Given the description of an element on the screen output the (x, y) to click on. 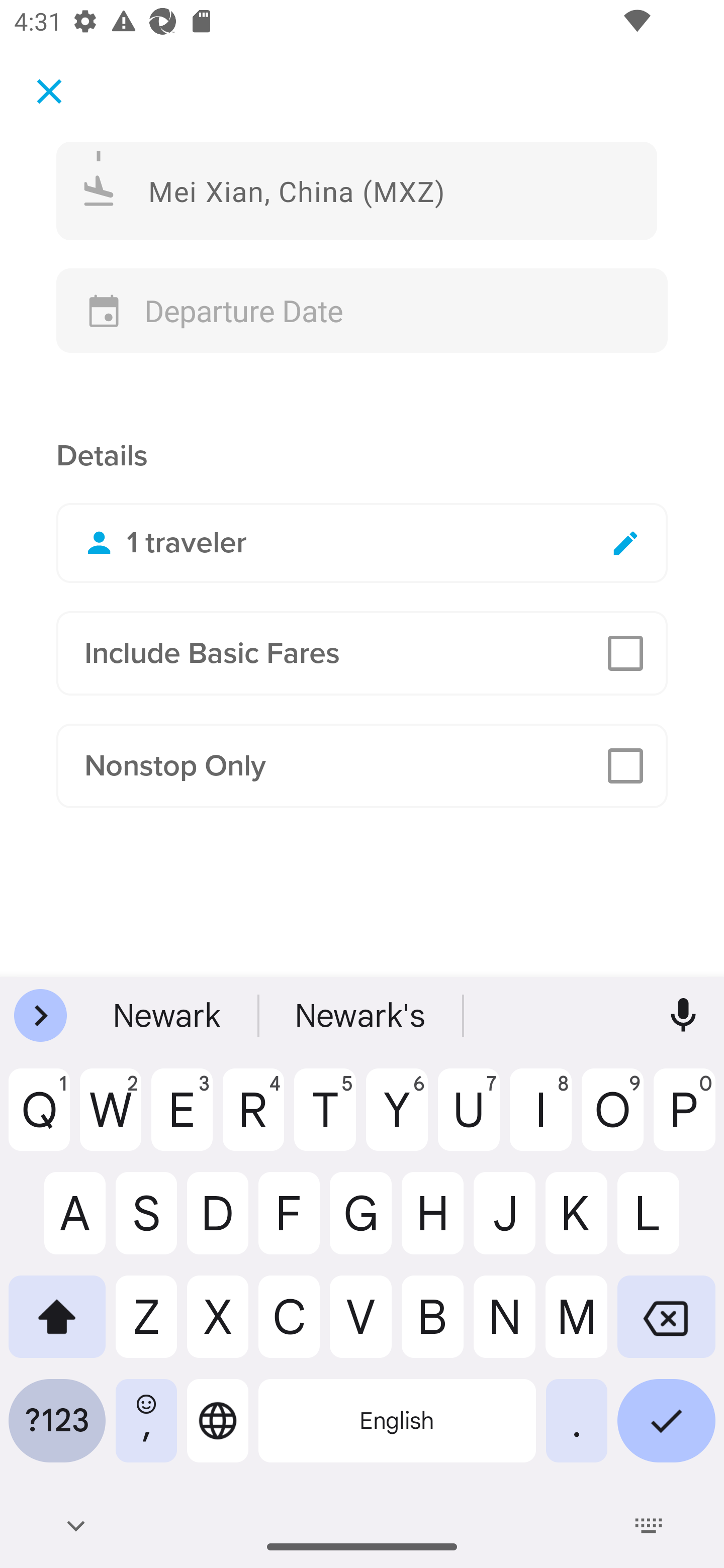
Cancel (49, 90)
Mei Xian, China (MXZ) (356, 190)
Departure Date (361, 310)
1 traveler Edit Travelers (361, 542)
Include Basic Fares (361, 653)
Nonstop Only (361, 765)
